Given the description of an element on the screen output the (x, y) to click on. 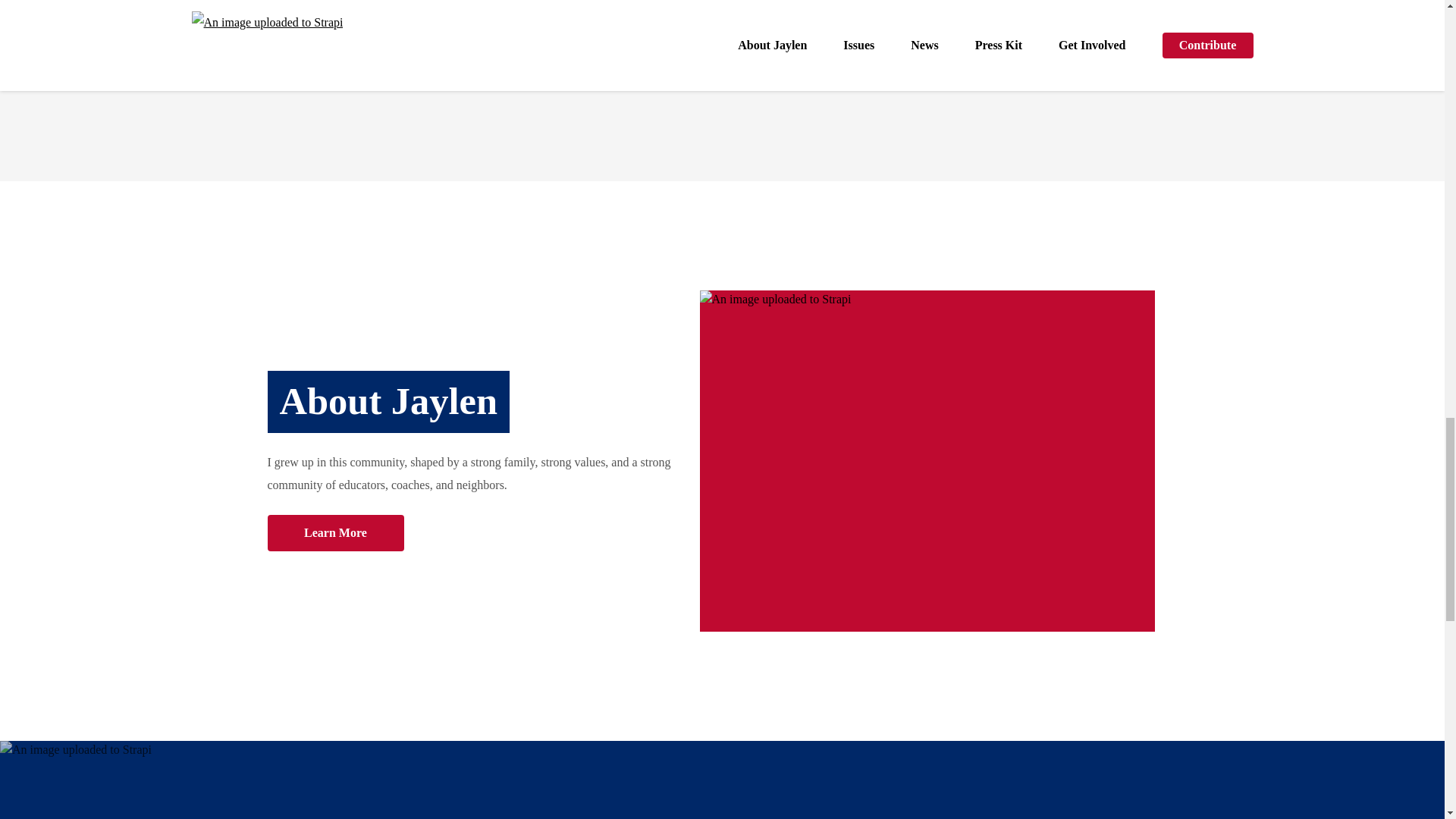
Learn More (334, 533)
